Given the description of an element on the screen output the (x, y) to click on. 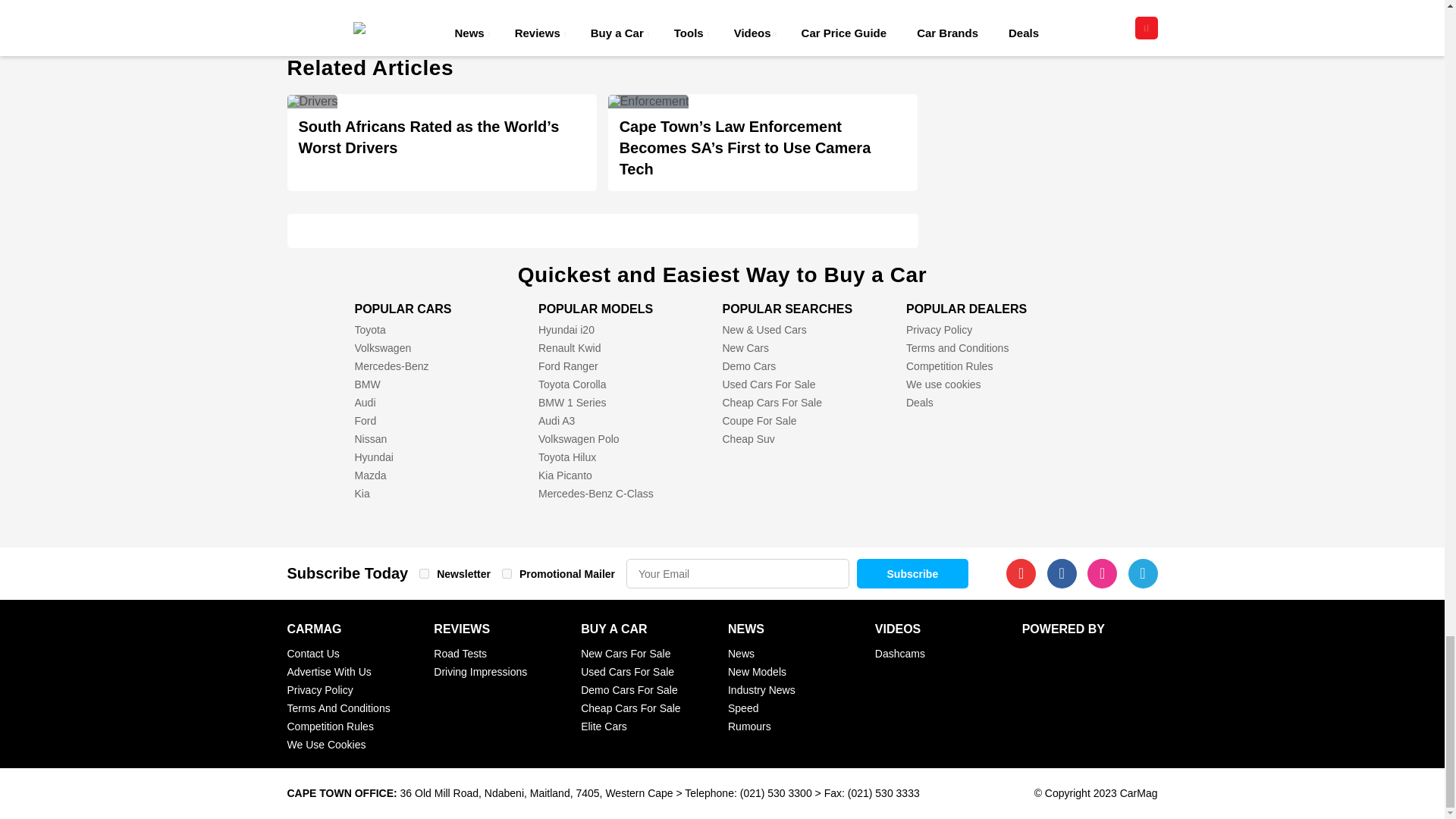
16618 (424, 573)
16619 (507, 573)
Subscribe (912, 573)
